Given the description of an element on the screen output the (x, y) to click on. 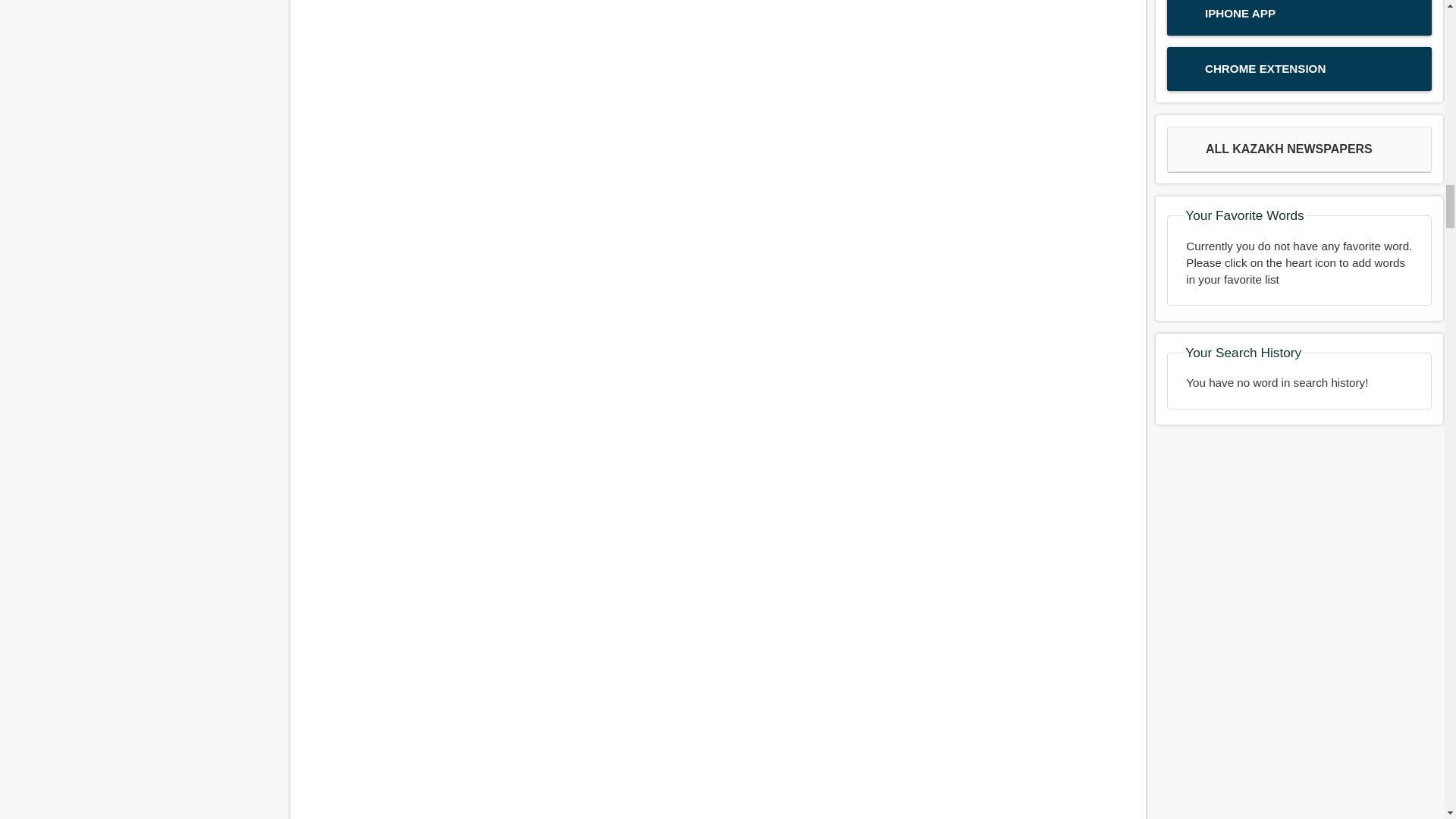
Learn Prepositions by Photos (717, 115)
